Given the description of an element on the screen output the (x, y) to click on. 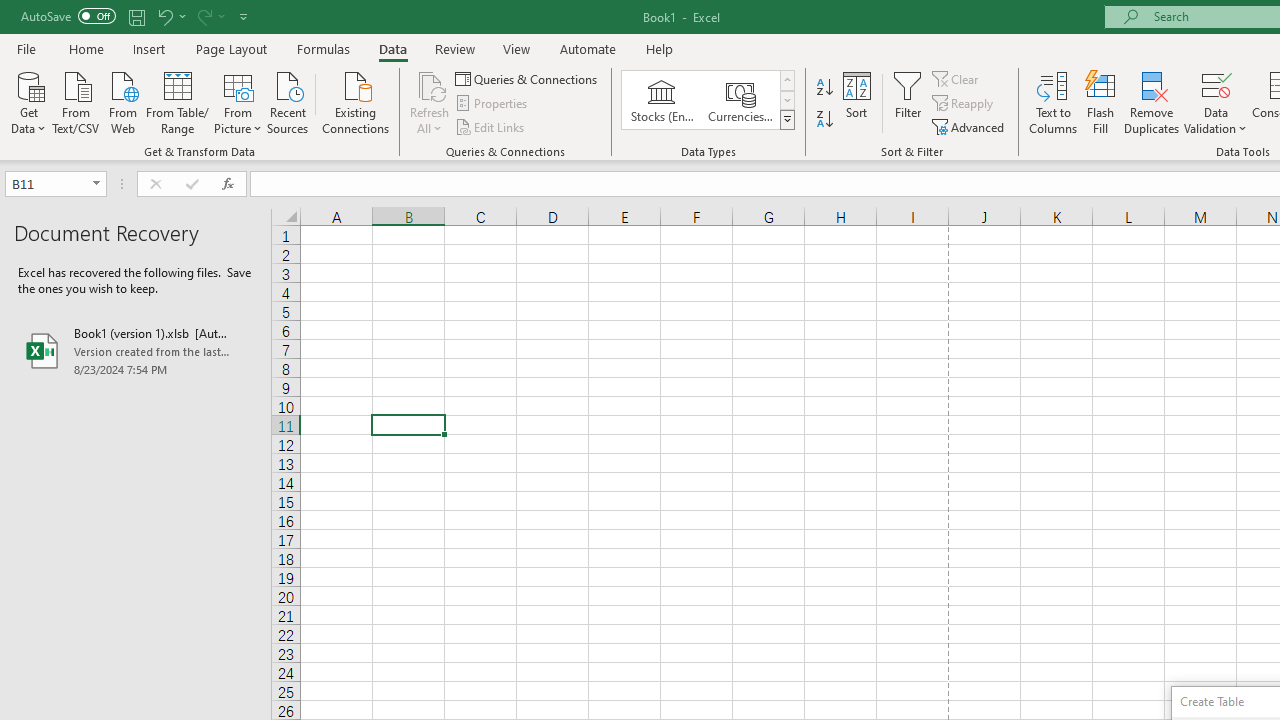
Queries & Connections (527, 78)
Flash Fill (1101, 102)
Sort A to Z (824, 87)
Edit Links (491, 126)
Recent Sources (287, 101)
